Given the description of an element on the screen output the (x, y) to click on. 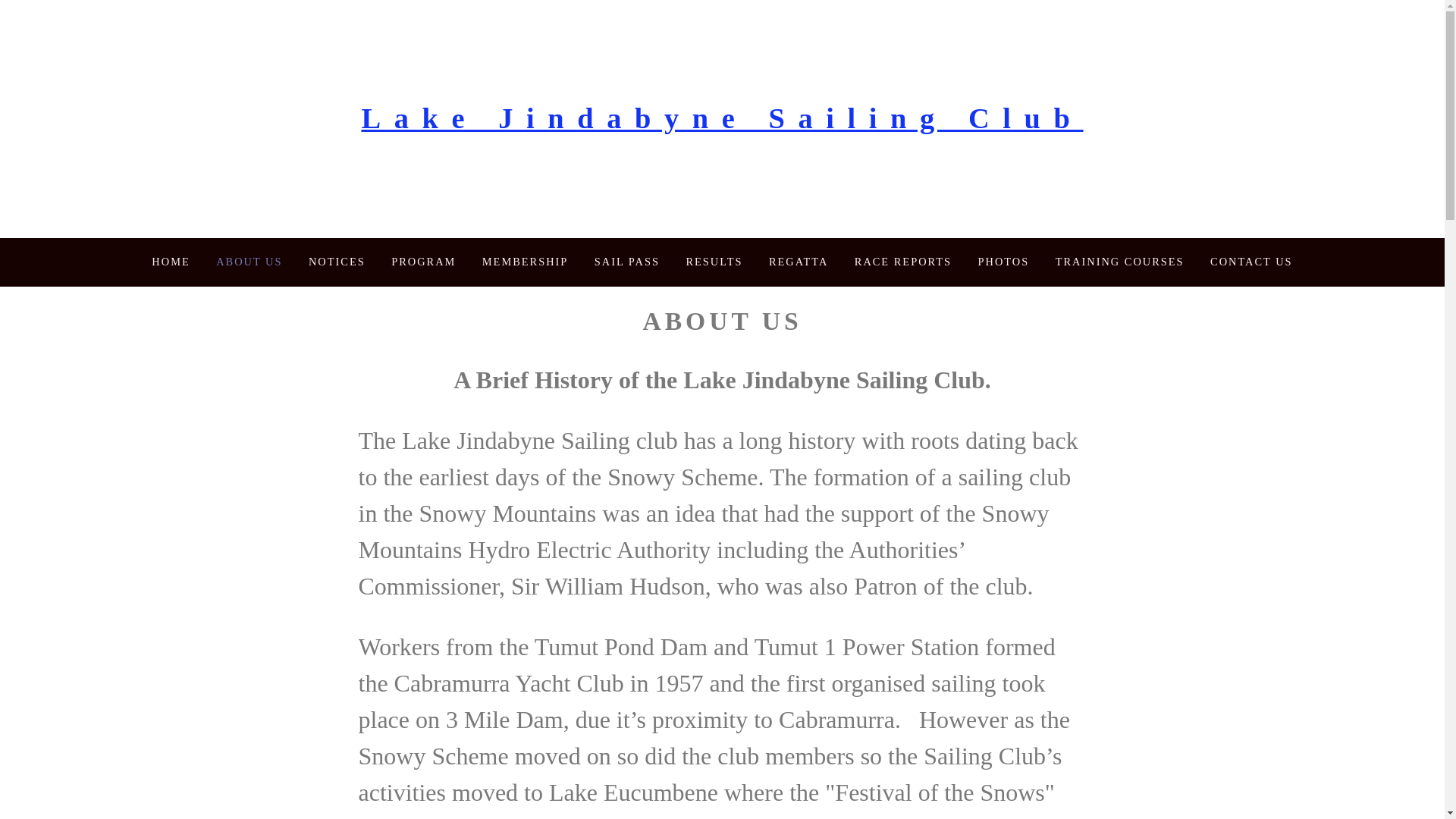
REGATTA (798, 261)
About us (248, 261)
MEMBERSHIP (525, 261)
RESULTS (713, 261)
Notices (336, 261)
RACE REPORTS (903, 261)
HOME (170, 261)
NOTICES (336, 261)
PROGRAM (423, 261)
PHOTOS (1003, 261)
Lake Jindabyne Sailing Club (722, 118)
CONTACT US (1250, 261)
Program (423, 261)
Sail Pass (626, 261)
Home (170, 261)
